Given the description of an element on the screen output the (x, y) to click on. 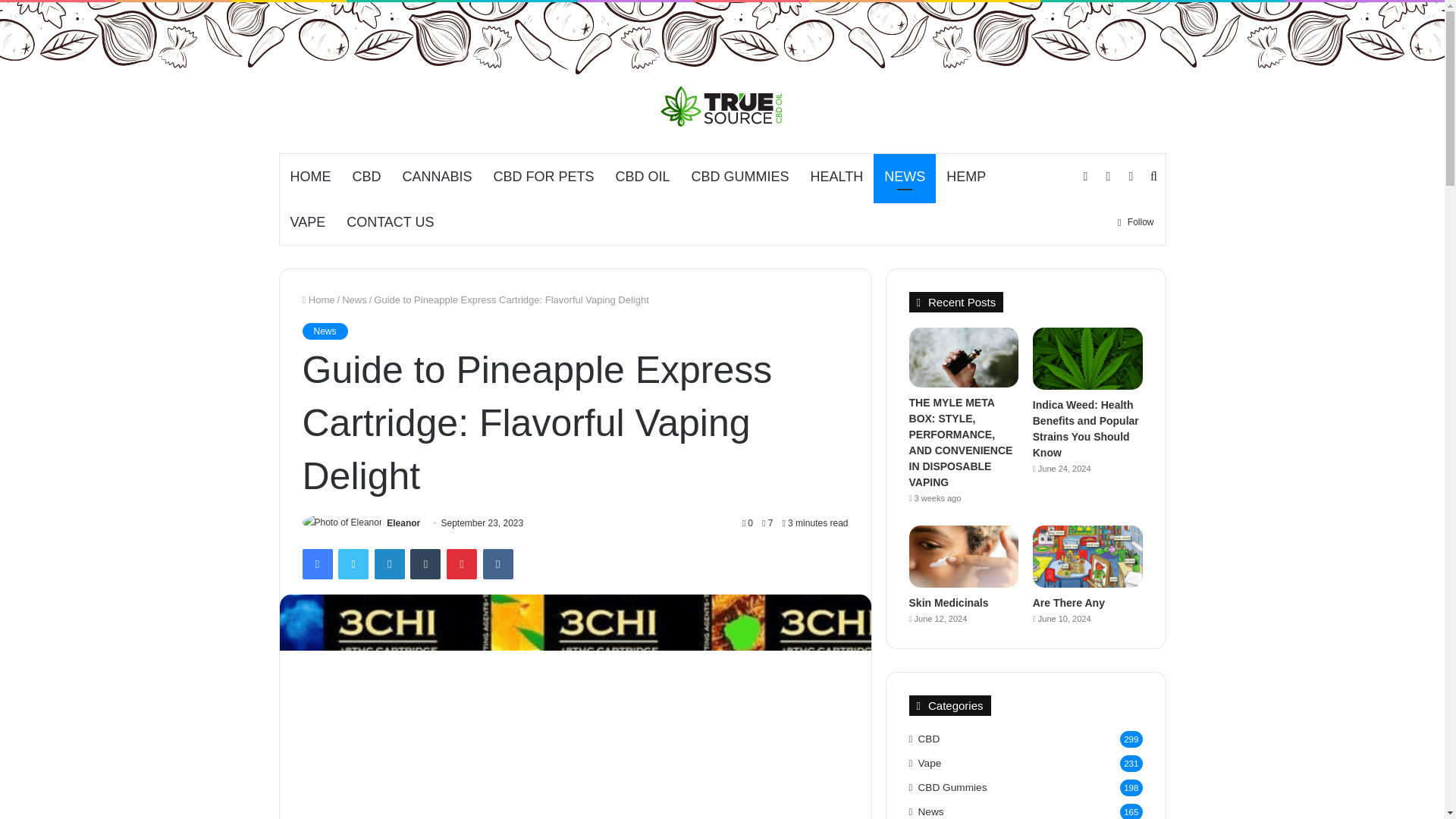
Twitter (352, 563)
TRUE SOURCE CBD OIL (722, 105)
HEMP (965, 176)
Tumblr (425, 563)
Pinterest (461, 563)
Eleanor (403, 522)
VAPE (307, 221)
VKontakte (498, 563)
News (324, 330)
News (354, 299)
VKontakte (498, 563)
CBD OIL (643, 176)
NEWS (904, 176)
CANNABIS (437, 176)
Follow (1135, 221)
